Given the description of an element on the screen output the (x, y) to click on. 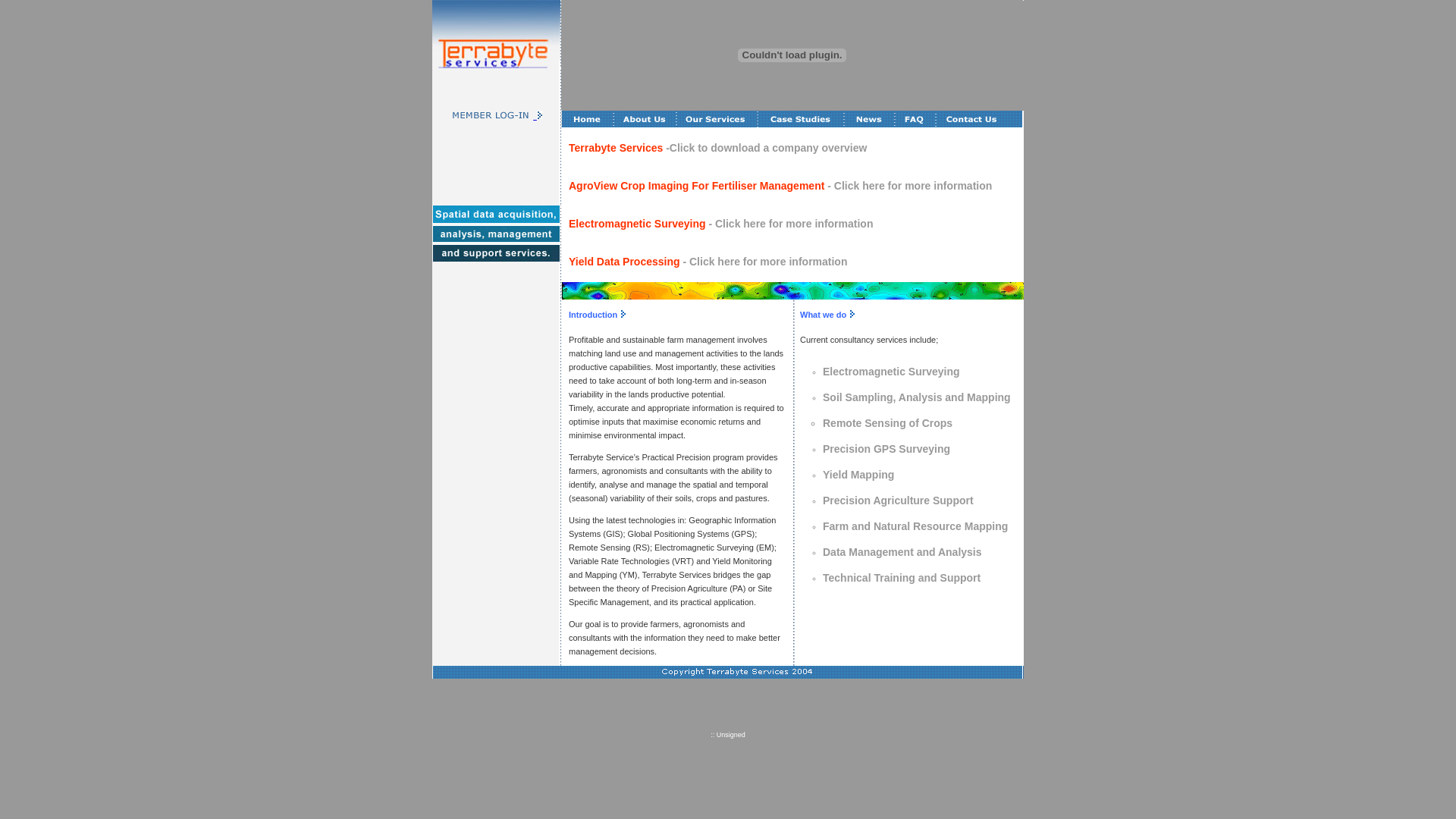
- Click here for more information Element type: text (907, 185)
Electromagnetic Surveying Element type: text (637, 223)
Terrabyte Services Element type: text (616, 147)
-Click to download a company overview Element type: text (765, 147)
Yield Data Processing Element type: text (624, 261)
- Click here for more information Element type: text (763, 261)
AgroView Crop Imaging For Fertiliser Management Element type: text (696, 185)
- Click here for more information Element type: text (789, 223)
Unsigned Element type: text (729, 734)
